Given the description of an element on the screen output the (x, y) to click on. 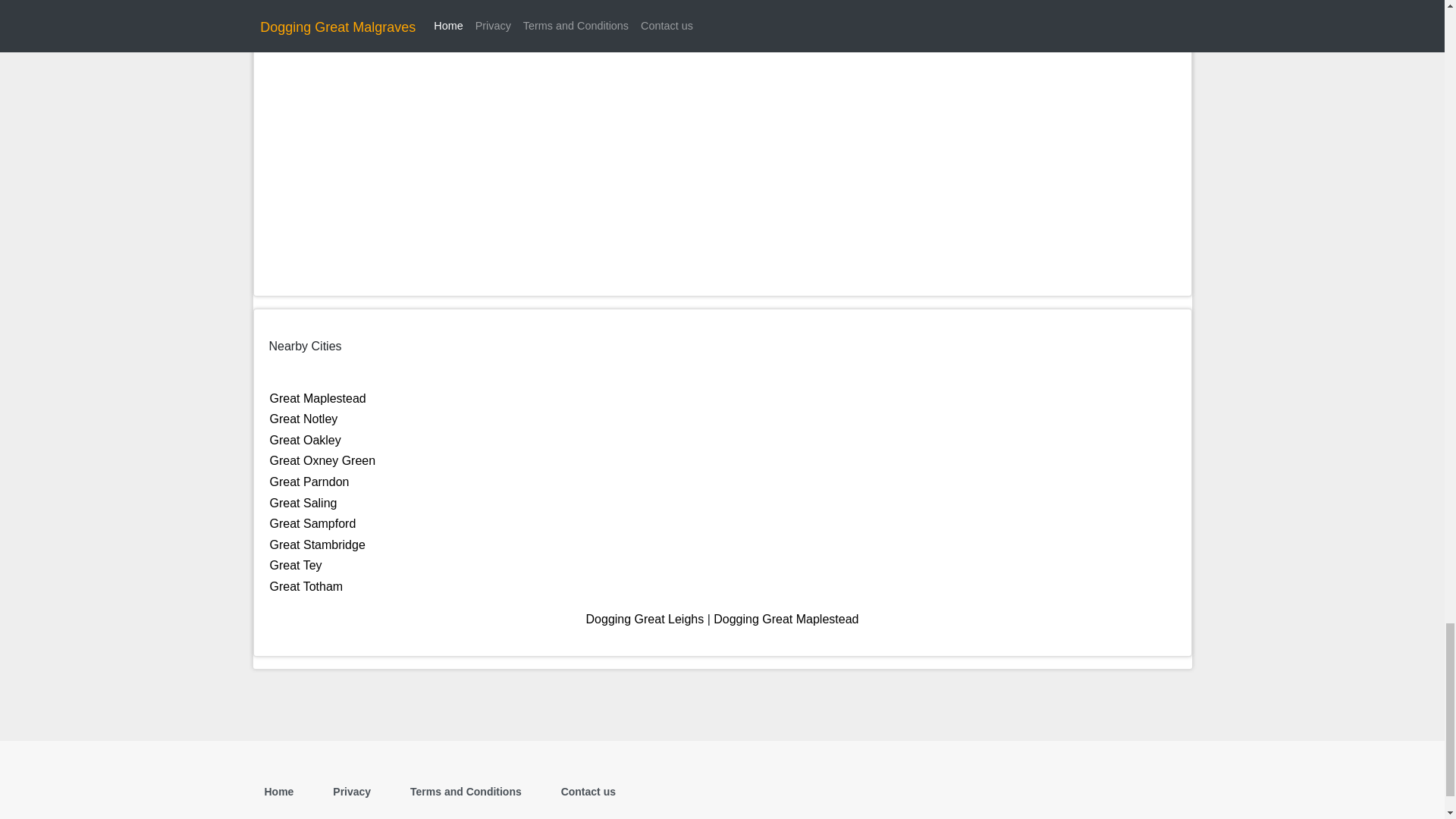
Great Tey (295, 564)
Great Notley (303, 418)
Great Oxney Green (322, 460)
Great Parndon (309, 481)
Great Totham (306, 585)
Dogging Great Leighs (645, 618)
Great Saling (303, 502)
Great Sampford (312, 522)
Great Oakley (304, 440)
Great Maplestead (317, 398)
Dogging Great Maplestead (786, 618)
Great Stambridge (317, 544)
